Given the description of an element on the screen output the (x, y) to click on. 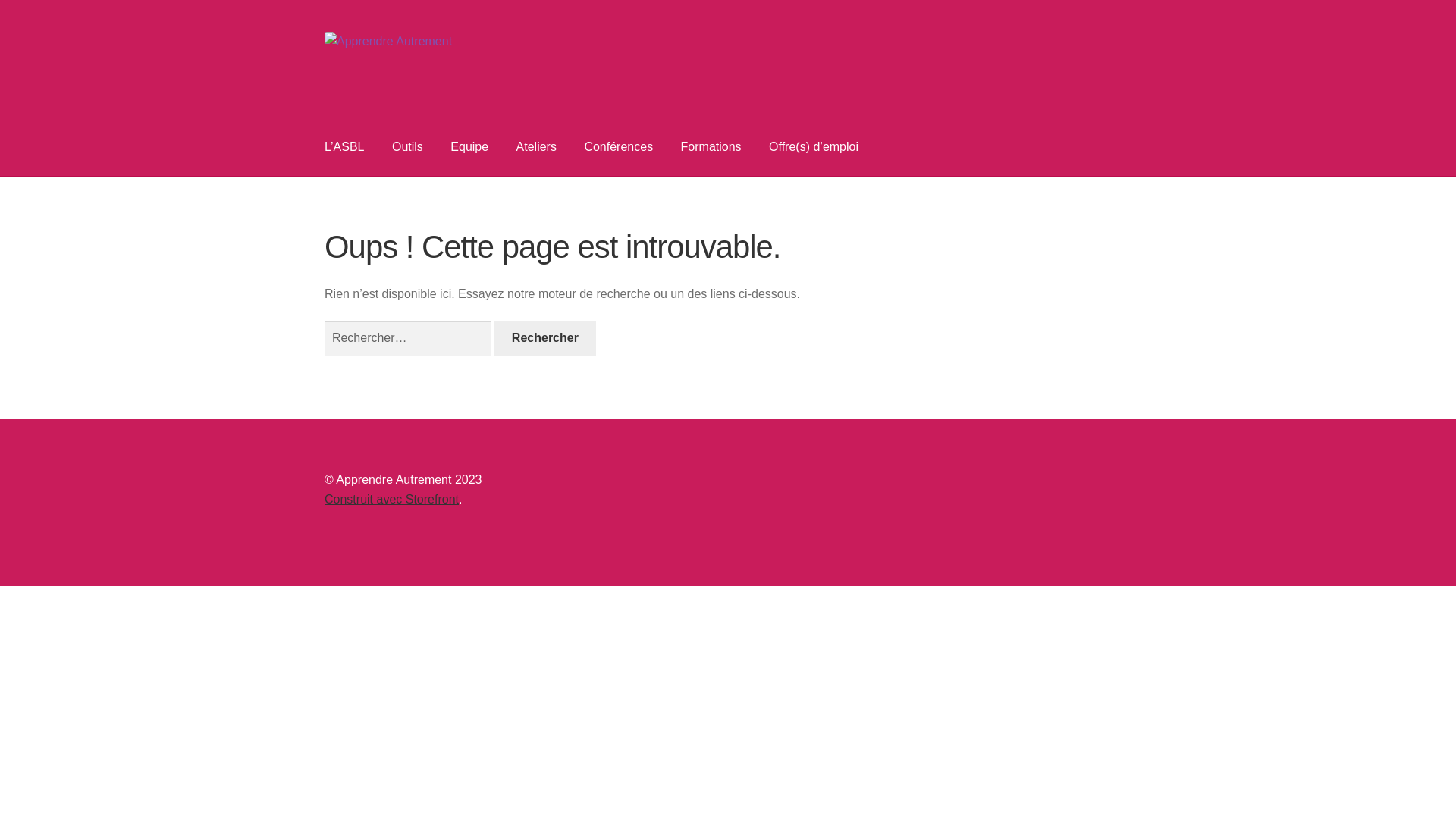
Equipe Element type: text (469, 146)
Ateliers Element type: text (536, 146)
Rechercher Element type: text (544, 337)
Formations Element type: text (710, 146)
Outils Element type: text (407, 146)
Construit avec Storefront Element type: text (391, 498)
